Given the description of an element on the screen output the (x, y) to click on. 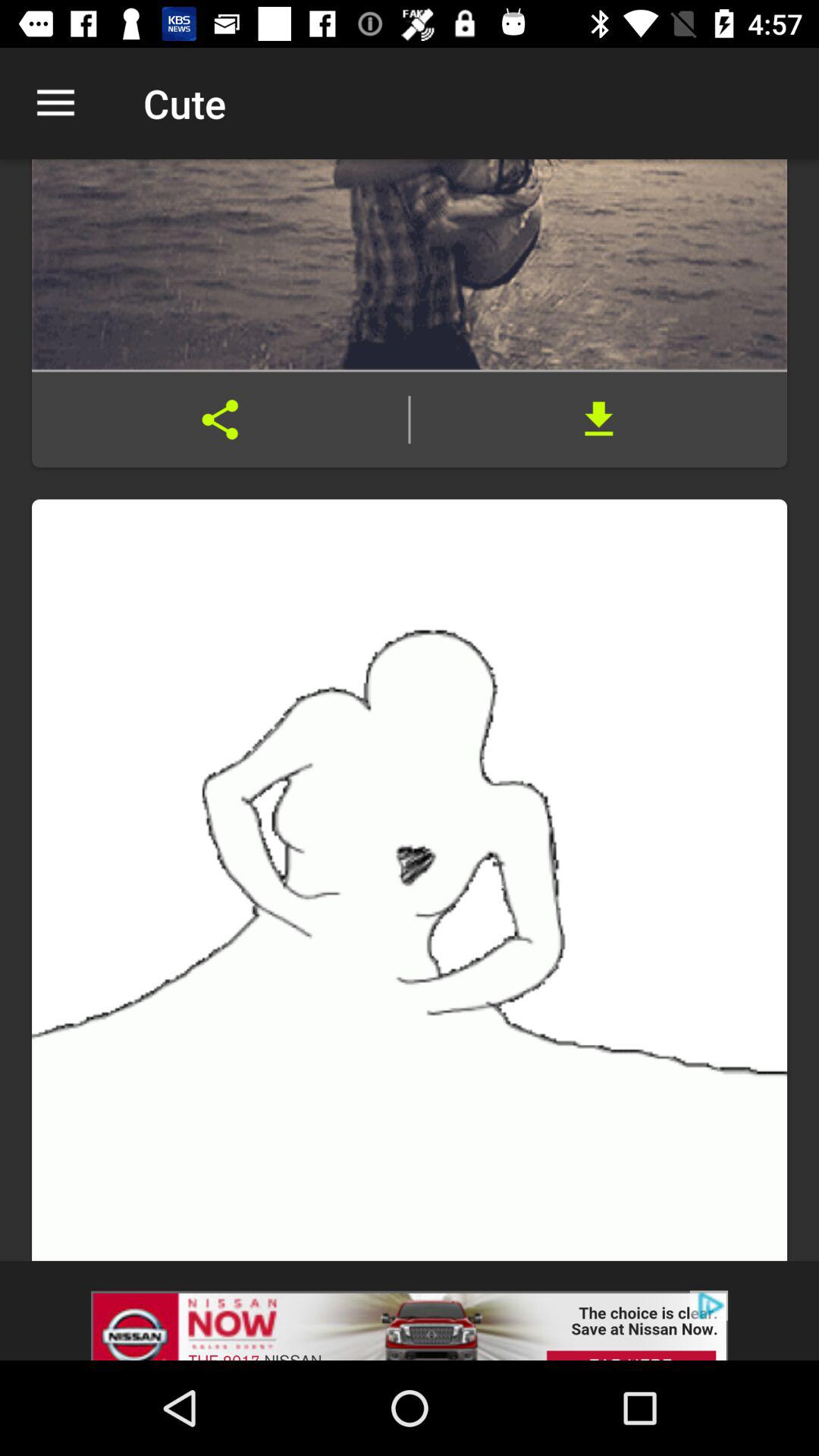
share with others (219, 419)
